Given the description of an element on the screen output the (x, y) to click on. 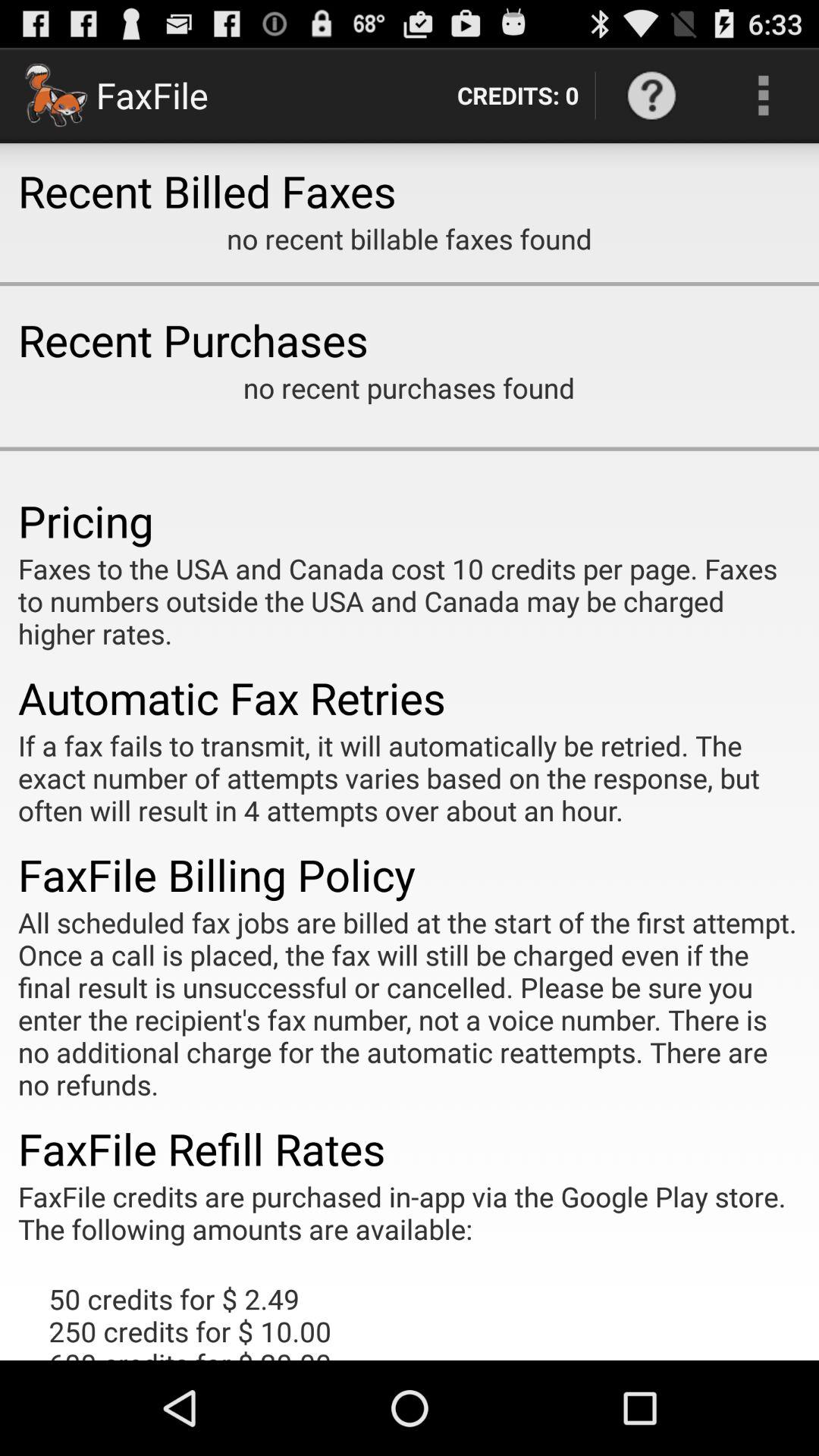
launch the item next to faxfile item (517, 95)
